Given the description of an element on the screen output the (x, y) to click on. 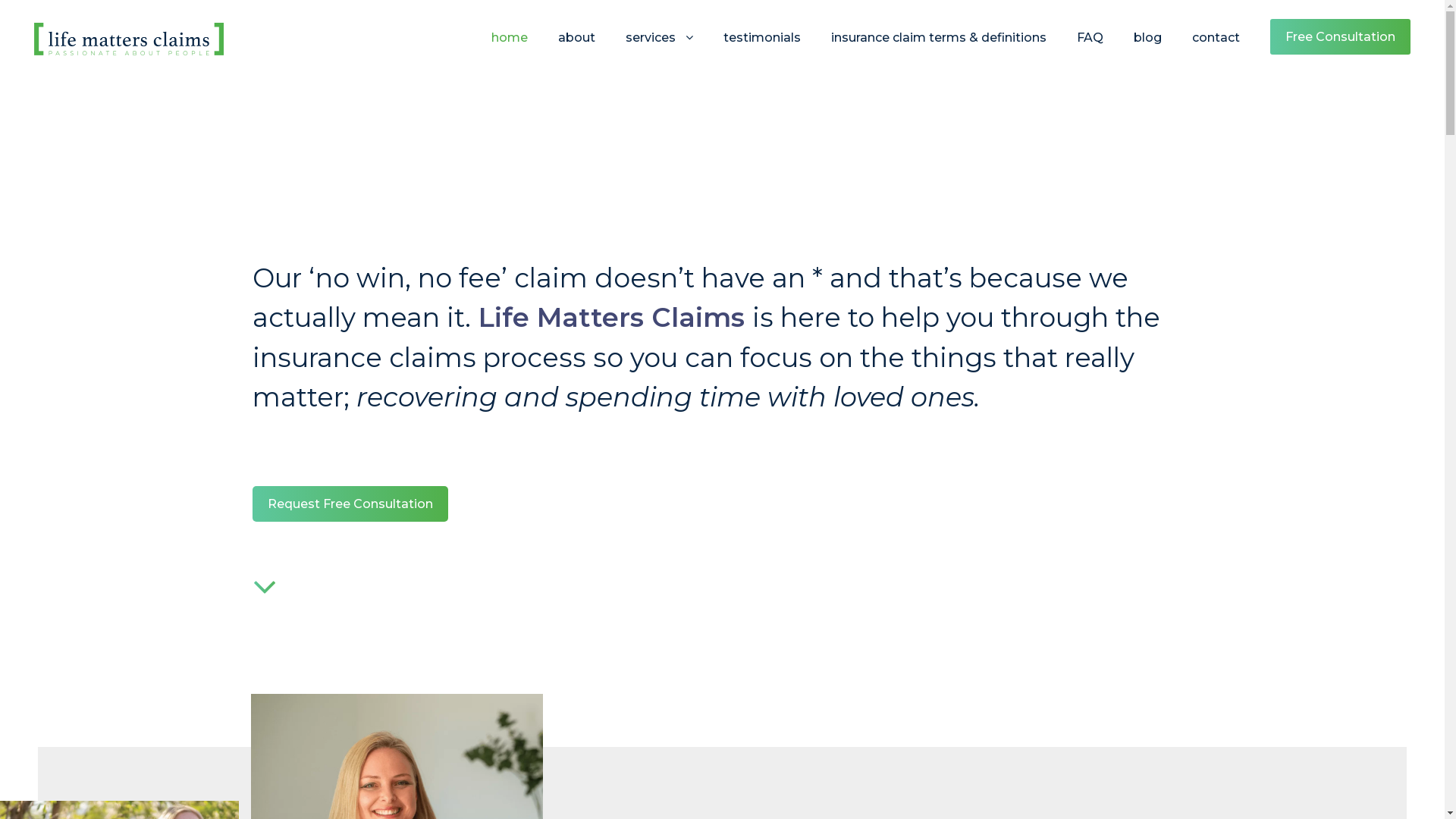
Services Element type: text (648, 328)
Insurance Claim Terms & Definitions Element type: text (721, 406)
TERMS OF USE Element type: text (791, 639)
home Element type: text (509, 50)
instagram Element type: hover (436, 451)
Testimonials Element type: text (658, 367)
FINANCIAL SERVICES GUIDE Element type: text (956, 639)
Blog Element type: text (638, 483)
youtube Element type: hover (402, 451)
about Element type: text (576, 50)
testimonials Element type: text (761, 50)
Contact Element type: text (647, 522)
About Element type: text (642, 290)
contact Element type: text (1215, 50)
primary logo-8 Element type: hover (128, 38)
linkedin Element type: hover (371, 451)
services Element type: text (659, 50)
blog Element type: text (1147, 50)
insurance claim terms & definitions Element type: text (938, 50)
FAQ Element type: text (637, 444)
Home Element type: text (643, 251)
PRIVACY POLICY Element type: text (668, 639)
Free Consultation Element type: text (1340, 36)
FAQ Element type: text (1089, 50)
facebook Element type: hover (340, 451)
Request Free Consultation Element type: text (349, 503)
